Given the description of an element on the screen output the (x, y) to click on. 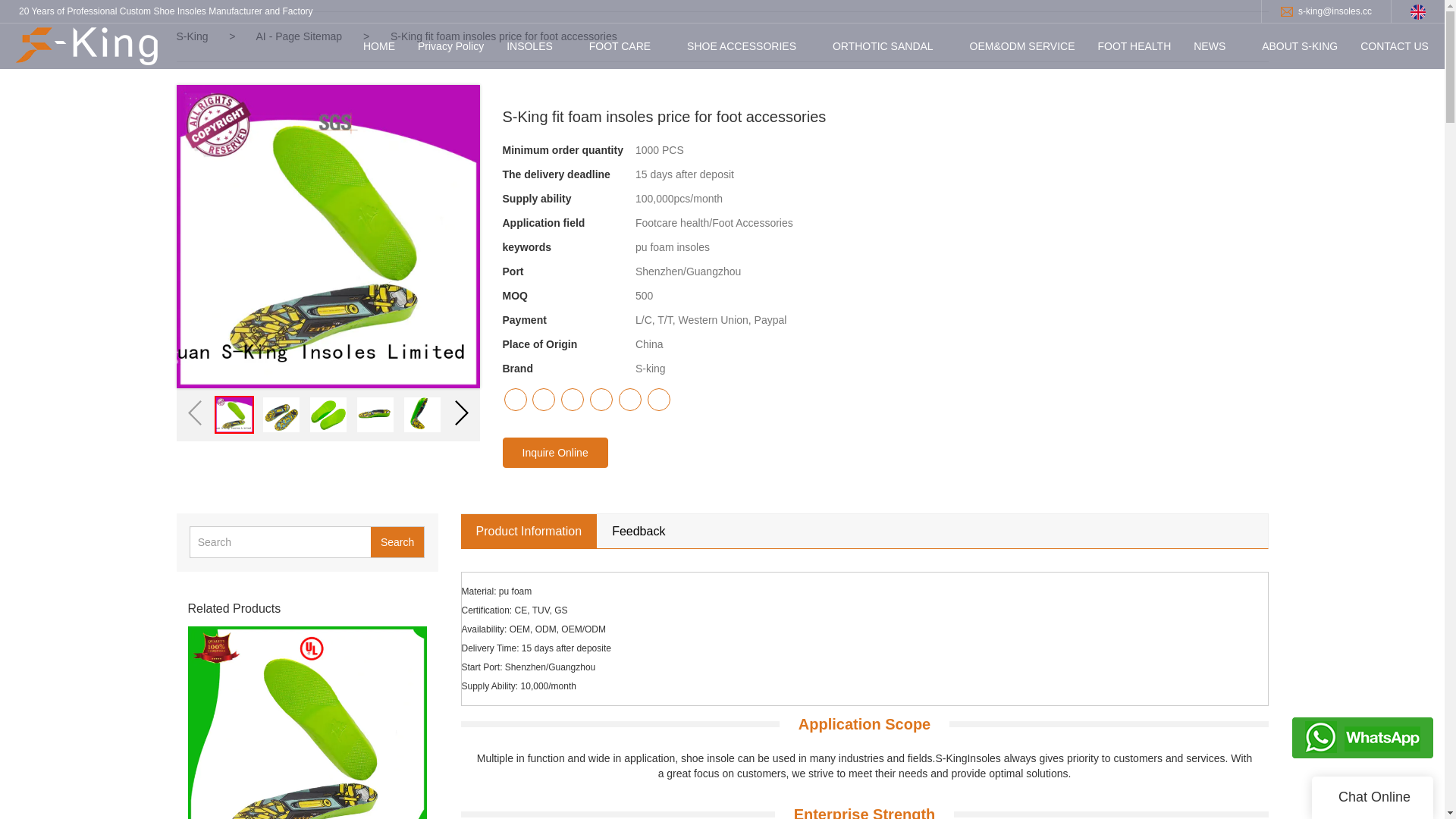
Privacy Policy Element type: text (450, 45)
S-King Element type: text (191, 36)
Product Information Element type: text (529, 531)
INSOLES Element type: text (529, 45)
AI - Page Sitemap Element type: text (300, 36)
NEWS Element type: text (1209, 45)
Feedback Element type: text (638, 531)
Search Element type: text (396, 542)
FOOT HEALTH Element type: text (1134, 45)
FOOT CARE Element type: text (619, 45)
SHOE ACCESSORIES Element type: text (741, 45)
OEM&ODM SERVICE Element type: text (1022, 45)
ORTHOTIC SANDAL Element type: text (882, 45)
HOME Element type: text (378, 45)
ABOUT S-KING Element type: text (1299, 45)
CONTACT US Element type: text (1394, 45)
Inquire Online Element type: text (554, 452)
